Given the description of an element on the screen output the (x, y) to click on. 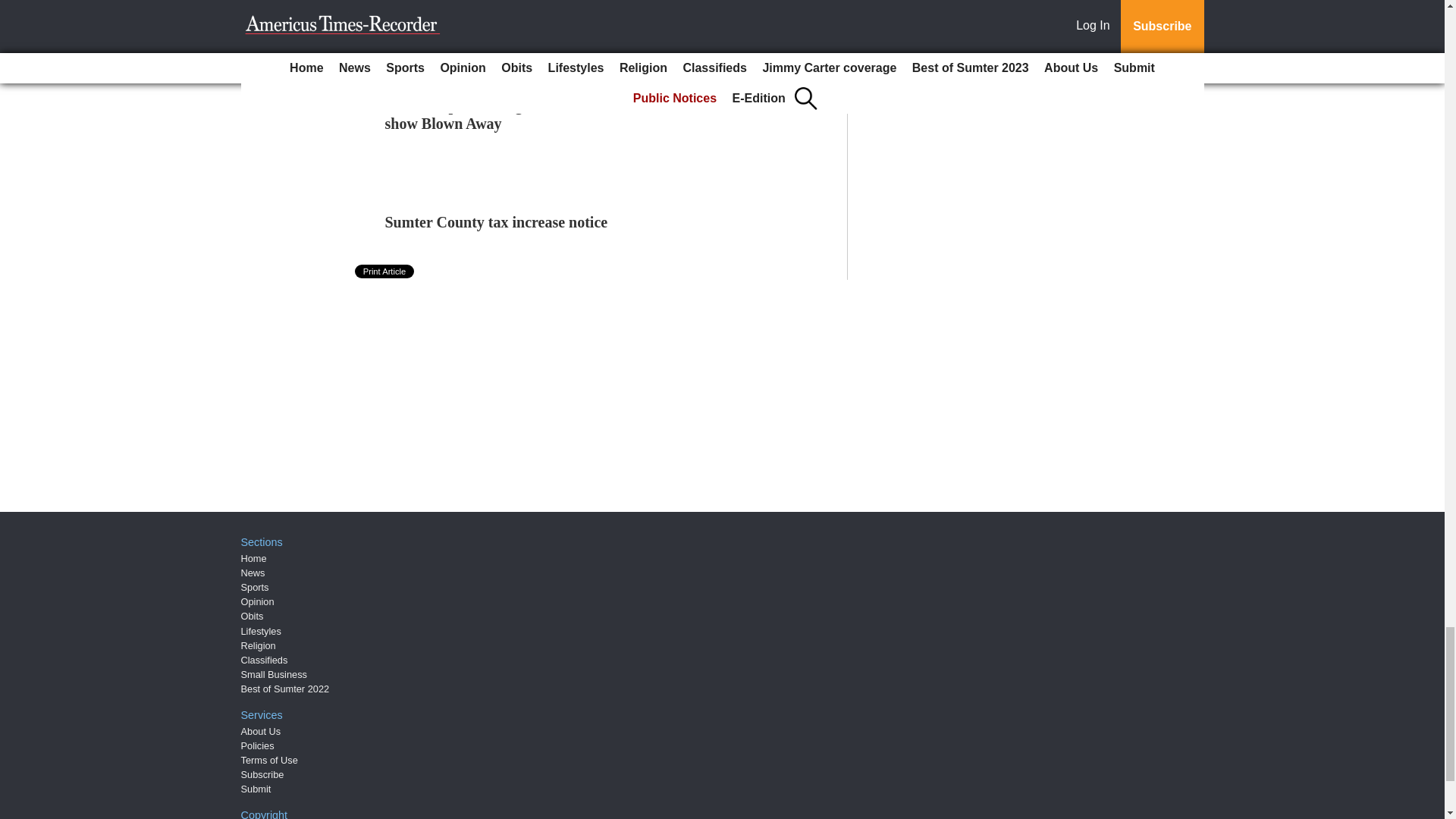
Print Article (384, 271)
Opinion (258, 601)
Sports (255, 586)
Home (253, 558)
Sumter County tax increase notice (496, 221)
News (252, 572)
Sumter County tax increase notice (496, 221)
